Given the description of an element on the screen output the (x, y) to click on. 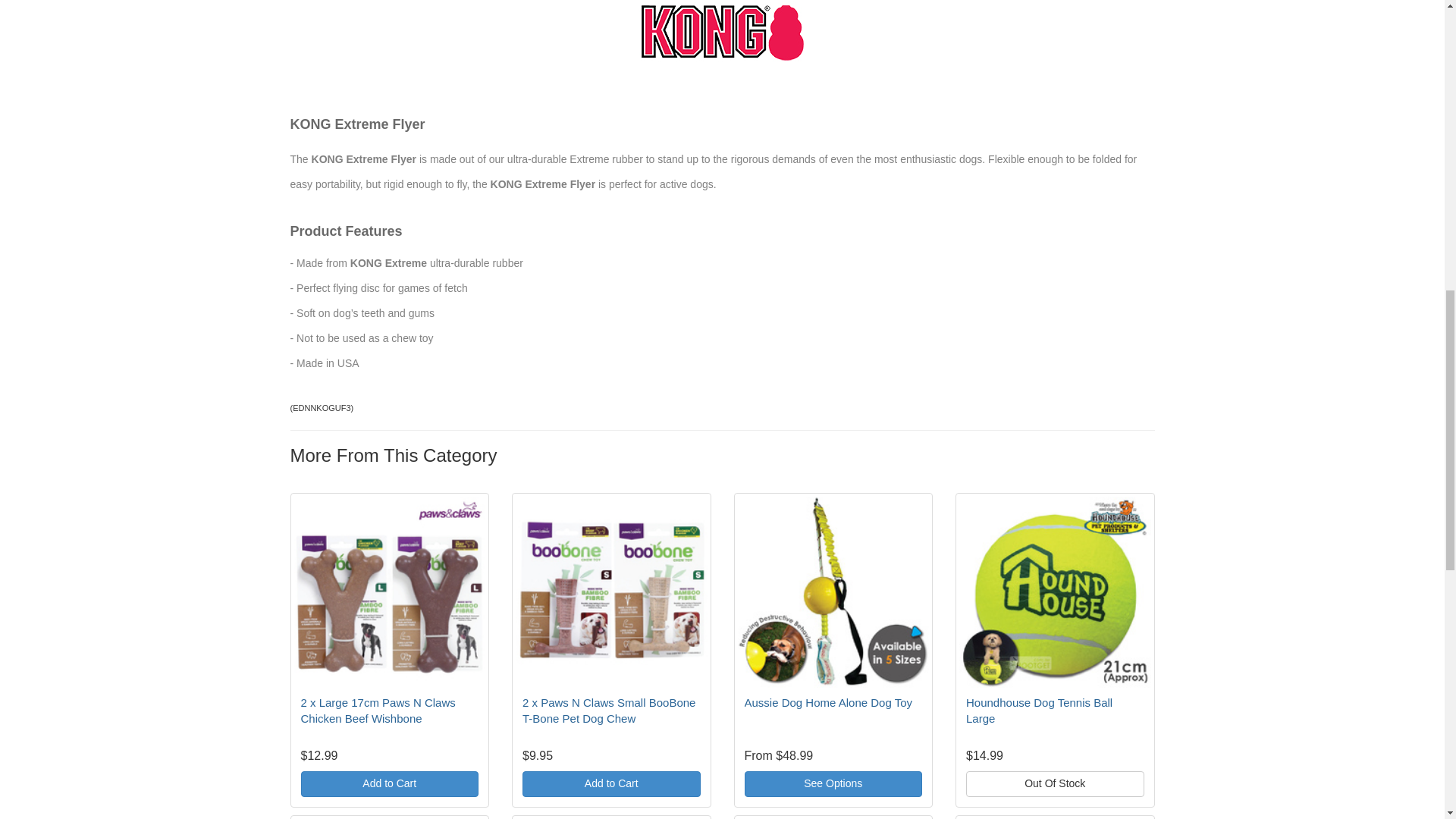
Notify Me When Back In Stock (1055, 783)
Add to Cart (389, 783)
Buying Options (833, 783)
Add to Cart (611, 783)
2 x Paws N Claws Small BooBone T-Bone Pet Dog Chew Toy (608, 710)
Aussie Dog Home Alone Dog Toy (828, 702)
Houndhouse Dog Tennis Ball Large (1039, 710)
